Given the description of an element on the screen output the (x, y) to click on. 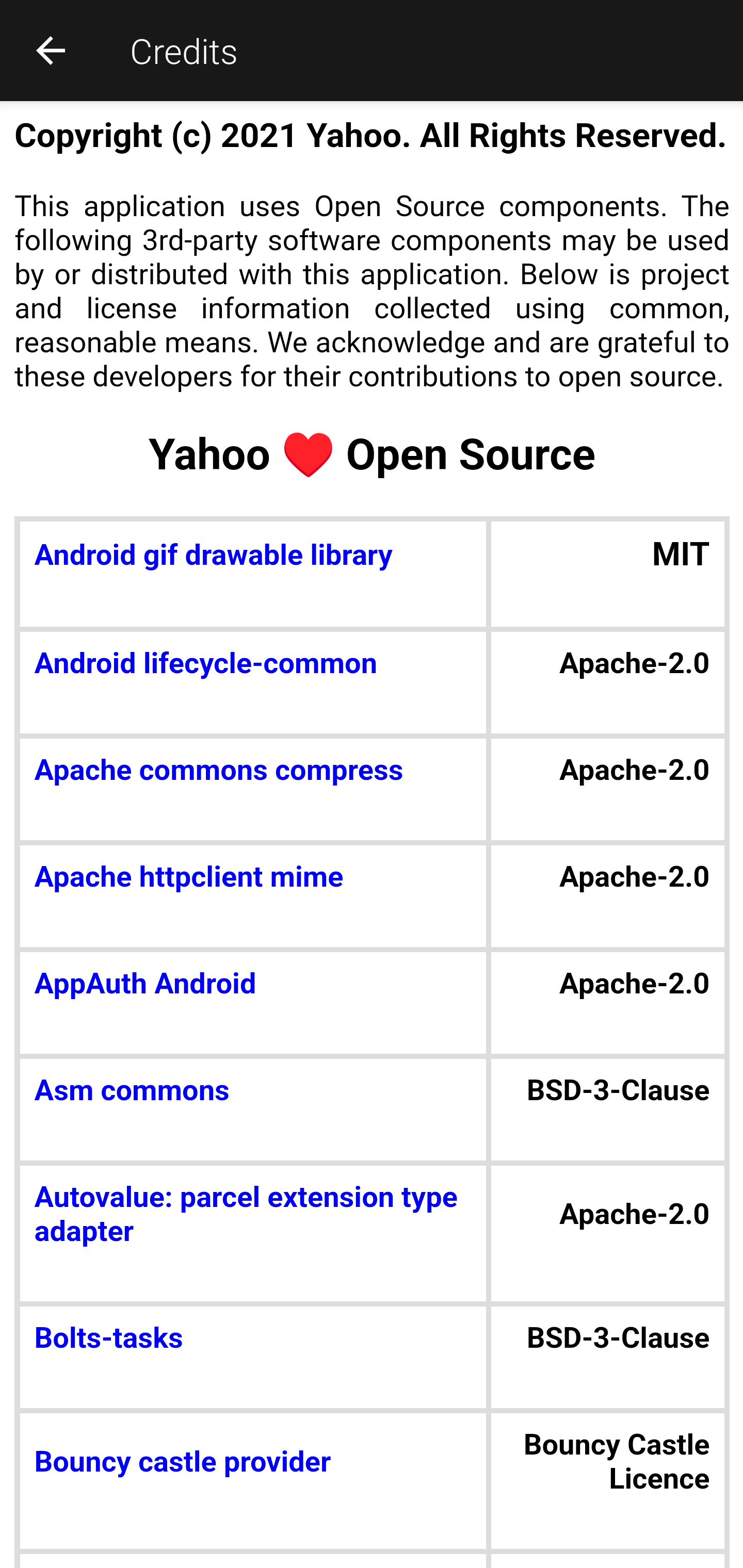
Navigate up (50, 50)
AppAuth Android AppAuth Android AppAuth Android (252, 983)
Asm commons Asm commons Asm commons (252, 1090)
Bolts-tasks Bolts-tasks Bolts-tasks (252, 1336)
